Given the description of an element on the screen output the (x, y) to click on. 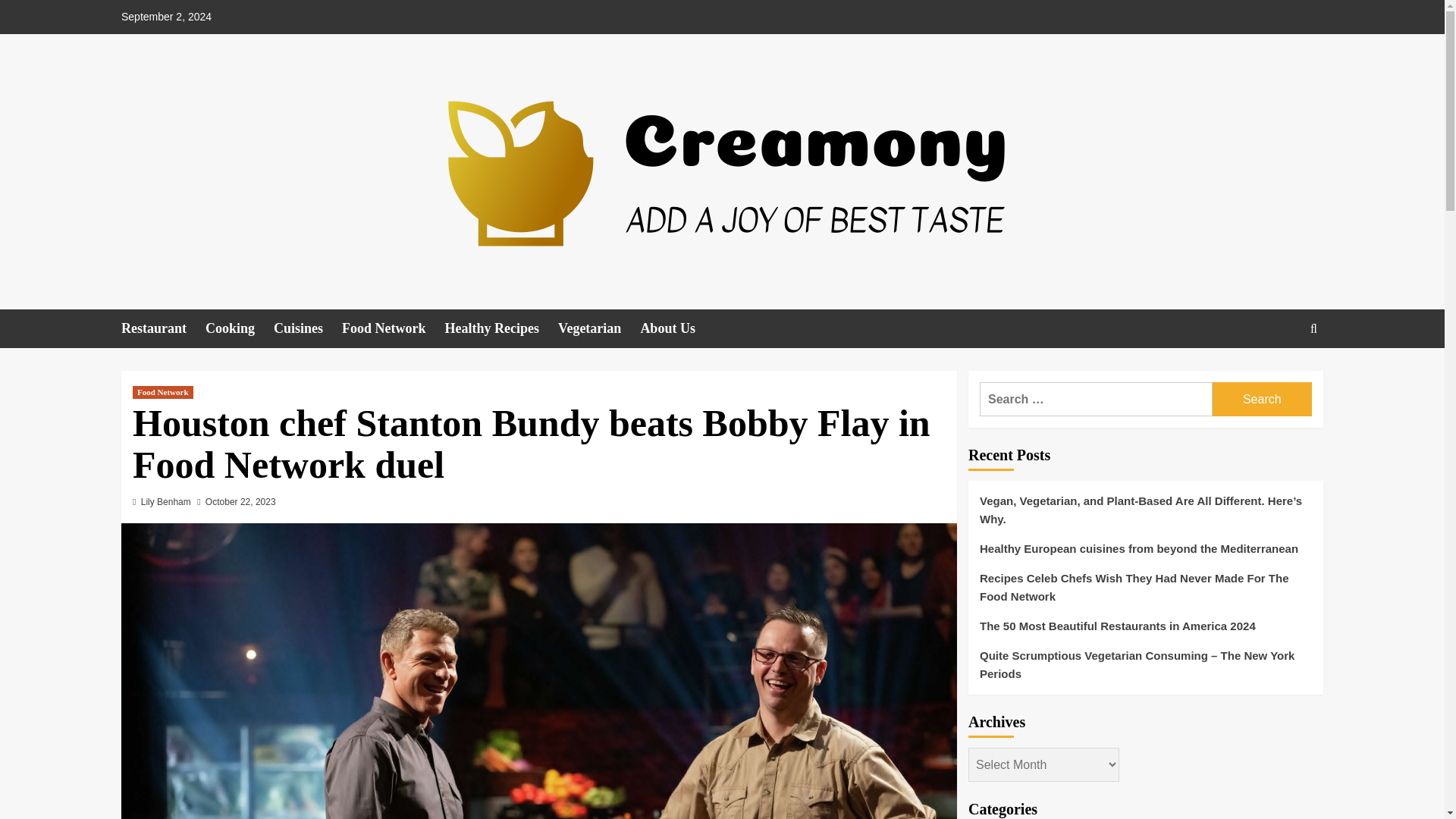
Search (1261, 399)
Lily Benham (165, 501)
Food Network (393, 328)
Restaurant (162, 328)
Food Network (162, 391)
Cuisines (307, 328)
Search (1261, 399)
Search (1278, 374)
October 22, 2023 (240, 501)
